Given the description of an element on the screen output the (x, y) to click on. 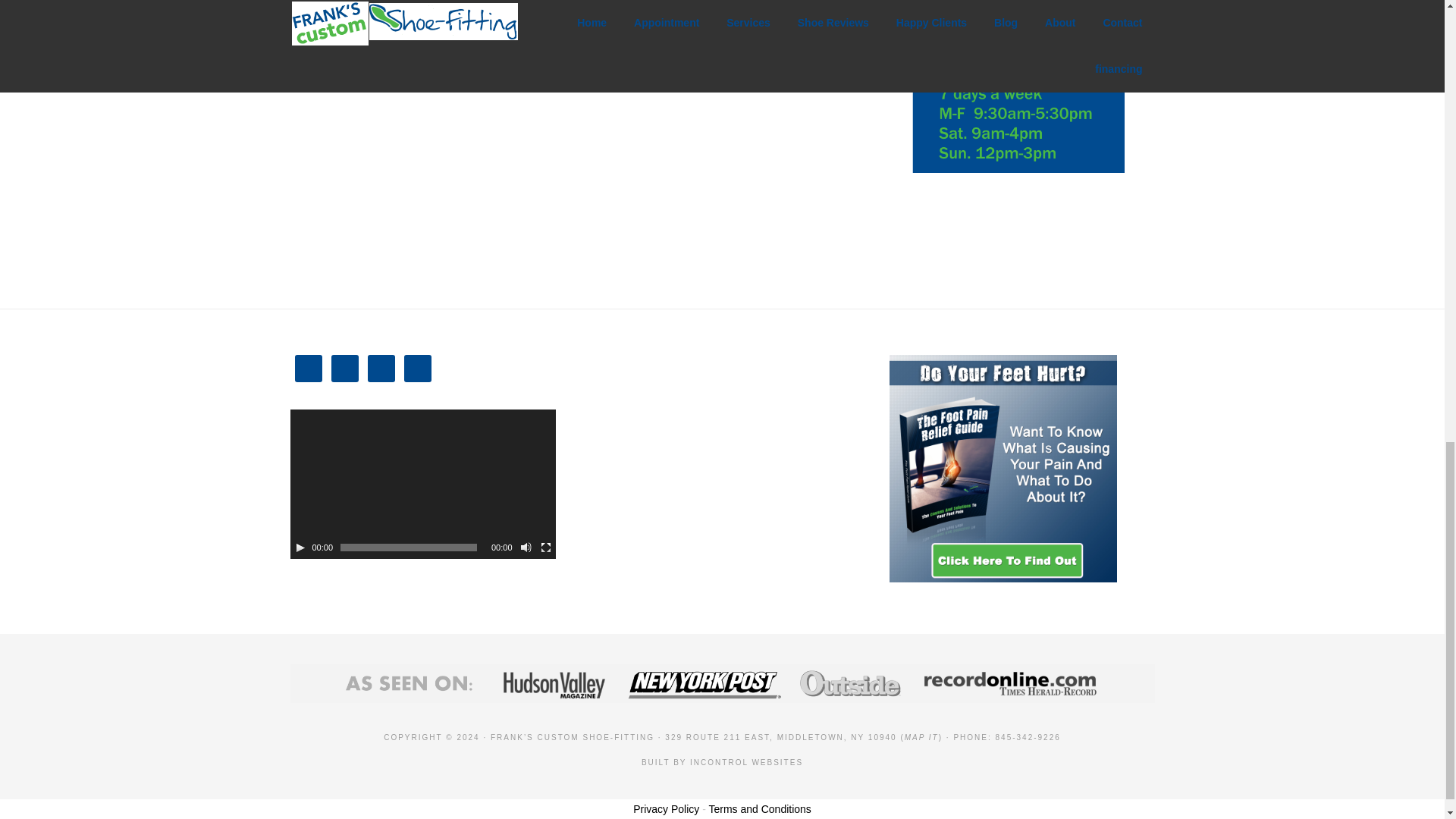
Fullscreen (545, 547)
Mute (525, 547)
Play (299, 547)
INCONTROL WEBSITES (746, 762)
MAP IT (921, 737)
